Given the description of an element on the screen output the (x, y) to click on. 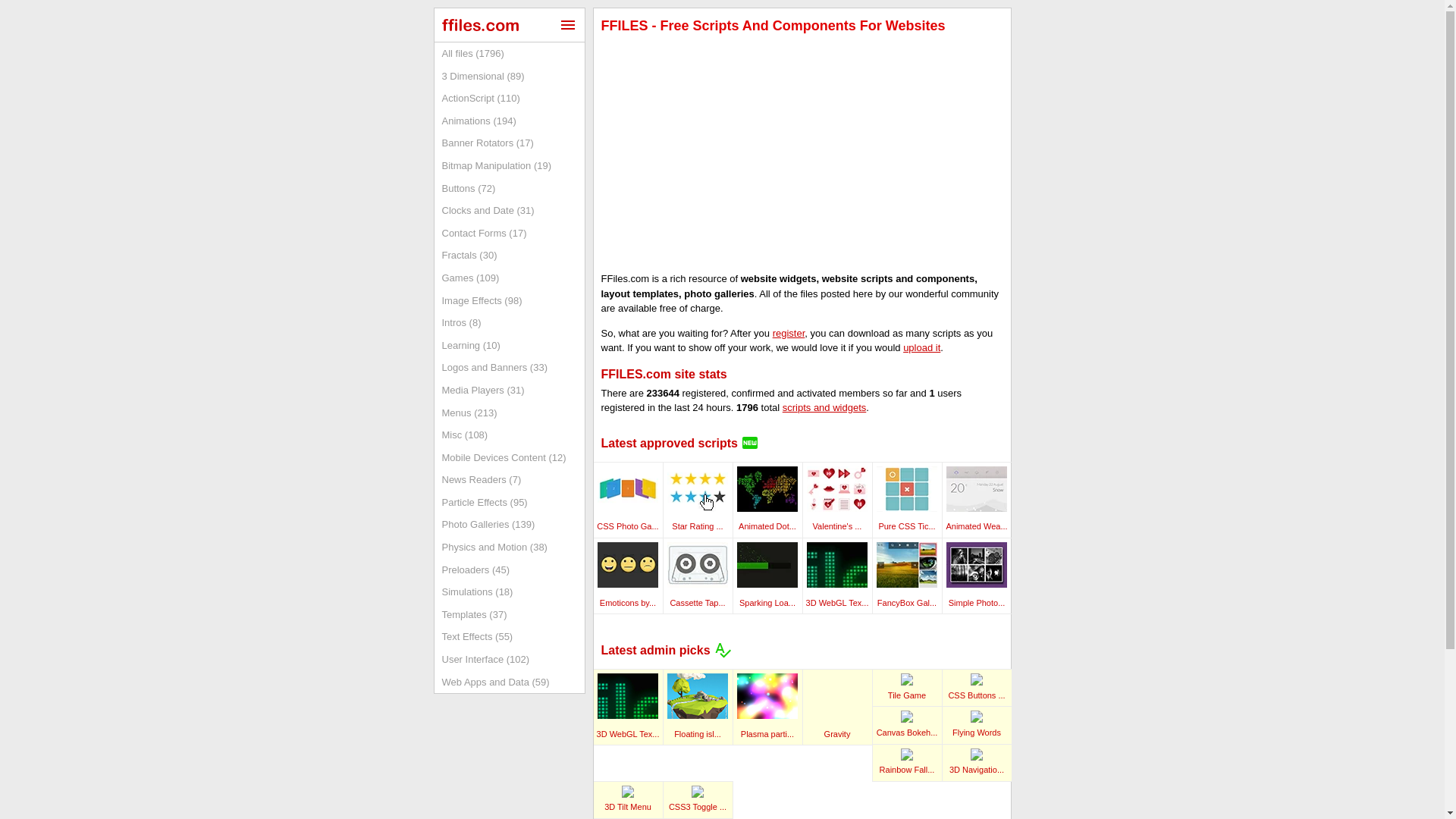
Plasma particles (766, 696)
all files (508, 53)
Floating island with waterfall (697, 696)
3D WebGL Text Transition (836, 565)
Star Rating Rollover SVG template (697, 488)
Star Rating ... (701, 538)
Animated Dot... (768, 538)
Valentine's ... (842, 538)
Animated Wea... (975, 538)
Simple Photo Gallery (976, 565)
